Given the description of an element on the screen output the (x, y) to click on. 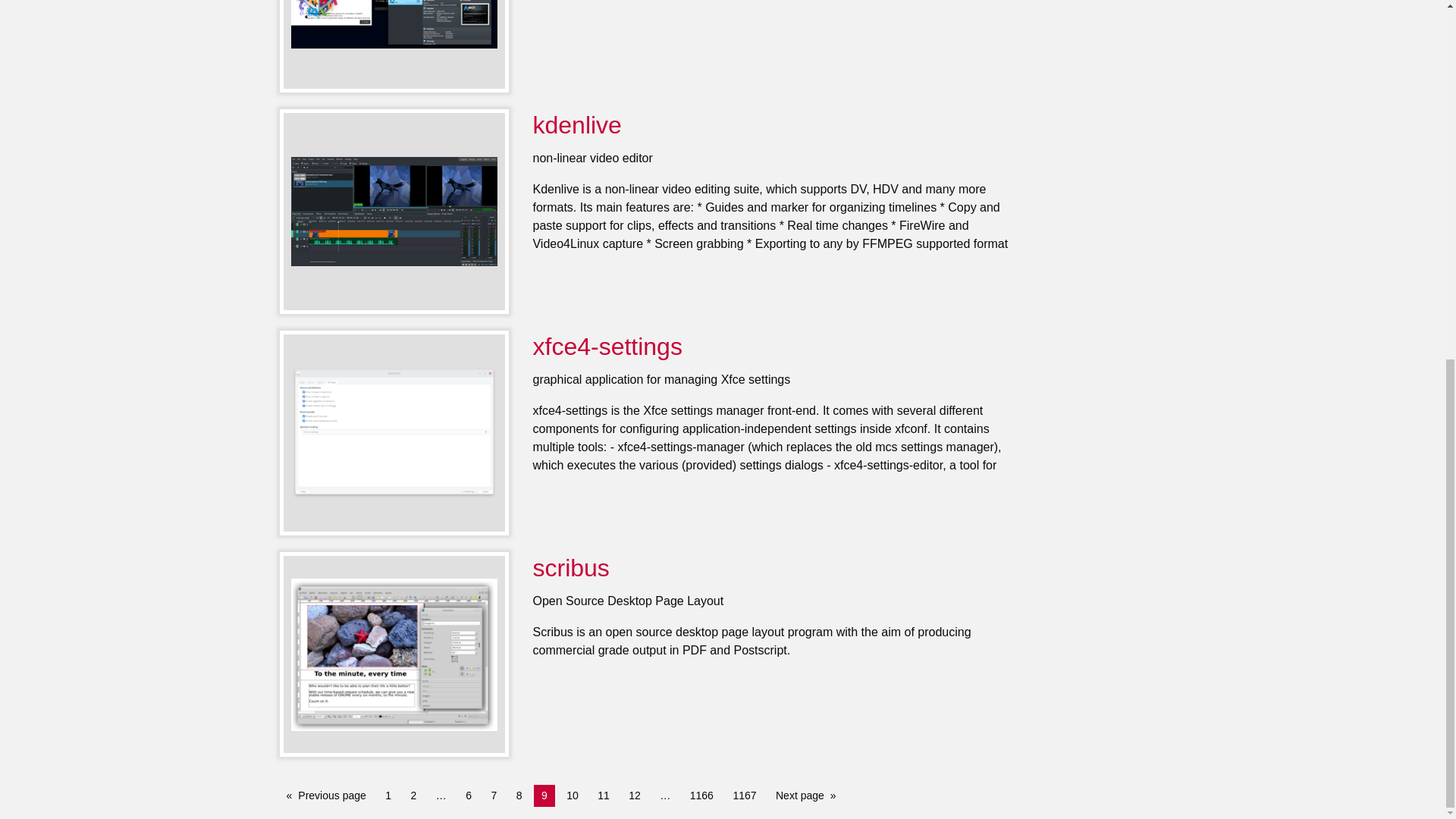
xfce4-settings (606, 346)
scribus (570, 567)
kdenlive (576, 124)
